Given the description of an element on the screen output the (x, y) to click on. 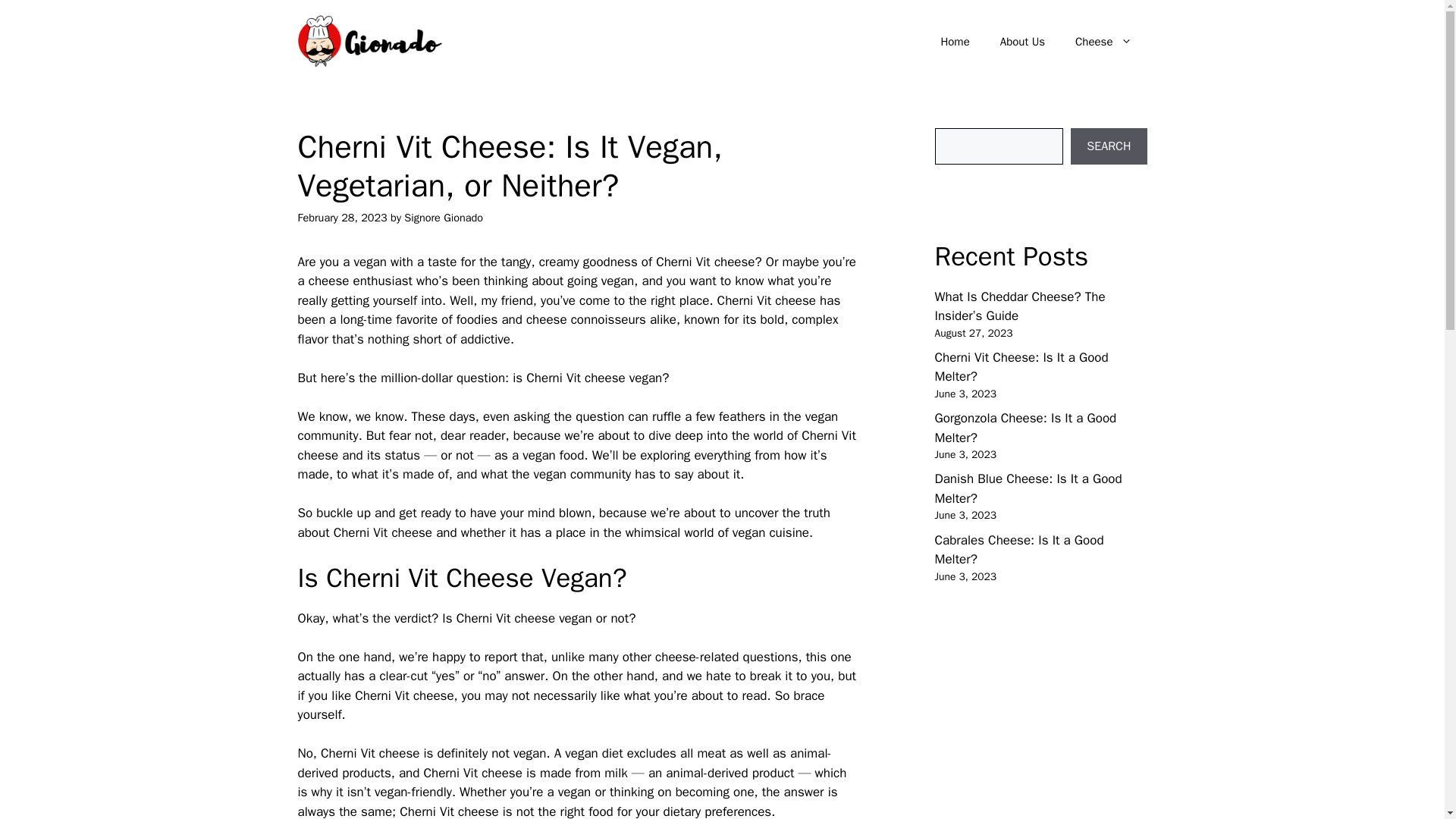
Cheese (1103, 41)
View all posts by Signore Gionado (443, 217)
Danish Blue Cheese: Is It a Good Melter? (1027, 488)
Cabrales Cheese: Is It a Good Melter? (1018, 550)
Home (954, 41)
About Us (1022, 41)
Signore Gionado (443, 217)
SEARCH (1108, 145)
Gorgonzola Cheese: Is It a Good Melter? (1025, 427)
Cherni Vit Cheese: Is It a Good Melter? (1021, 366)
